Given the description of an element on the screen output the (x, y) to click on. 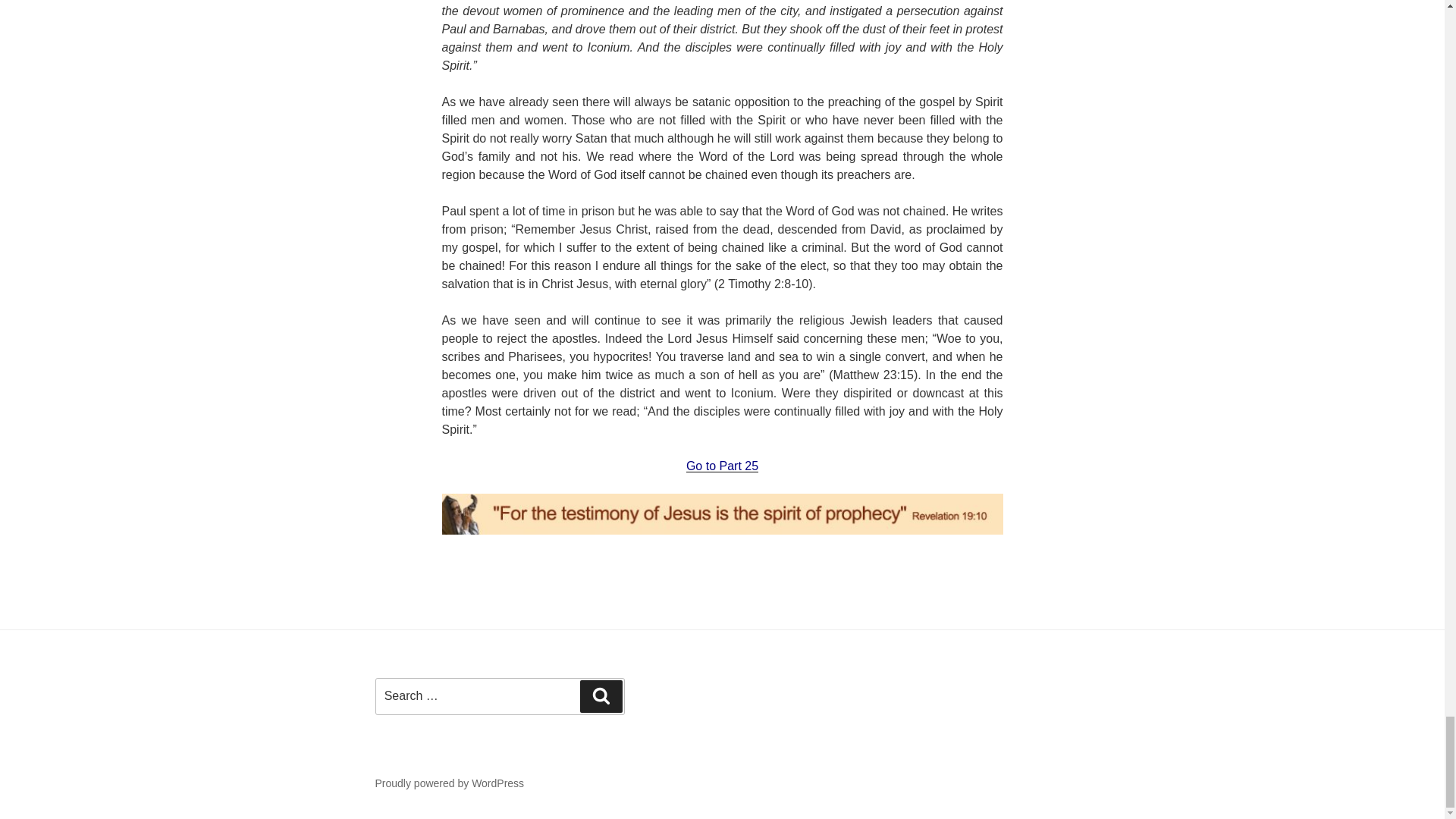
Search (601, 695)
Proudly powered by WordPress (449, 783)
Go to Part 25 (721, 465)
